Given the description of an element on the screen output the (x, y) to click on. 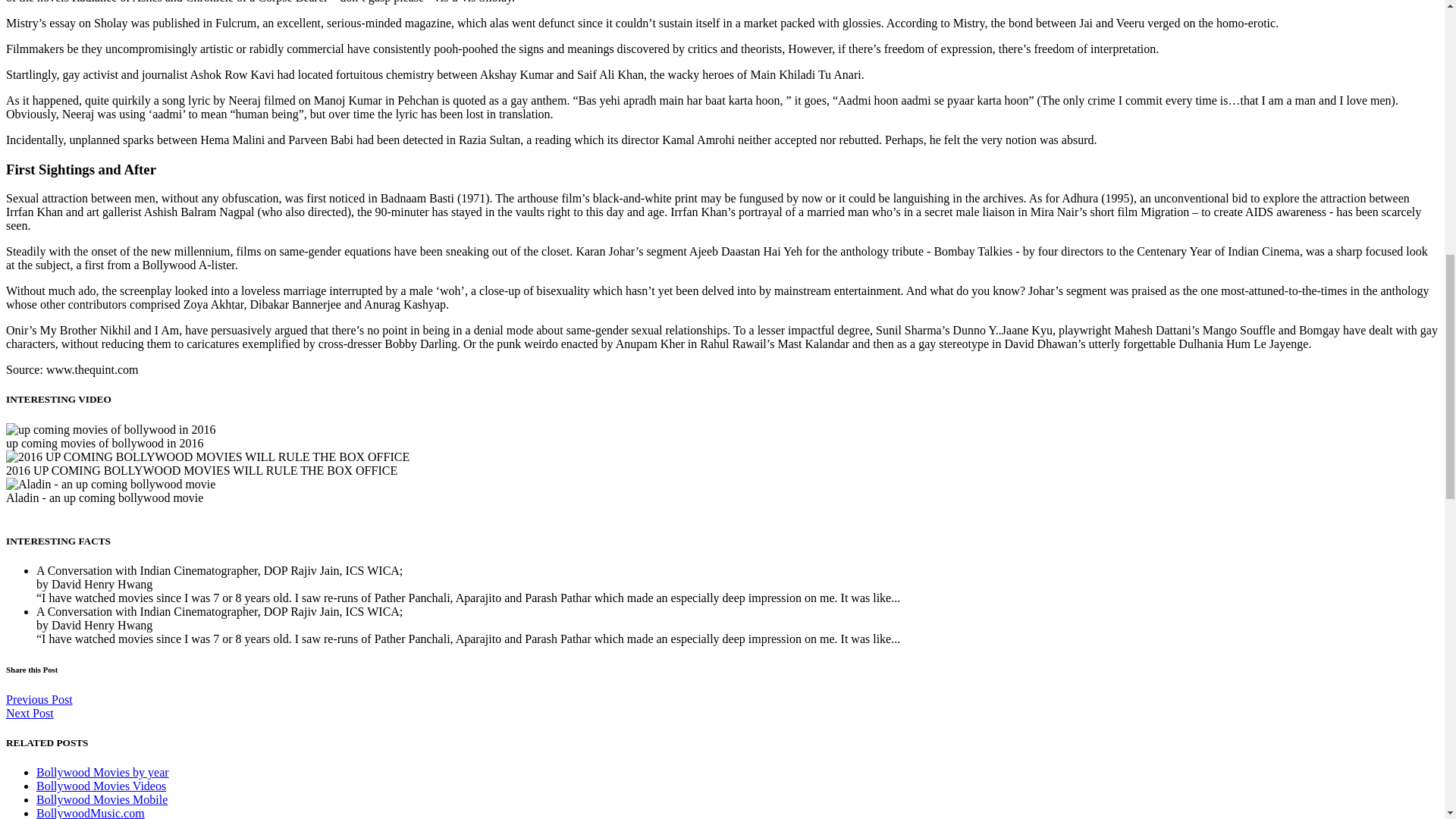
Bollywood Movies by year (102, 771)
Bollywood Movies Mobile (101, 799)
BollywoodMusic.com (90, 812)
Bollywood Movies Videos (100, 785)
